Given the description of an element on the screen output the (x, y) to click on. 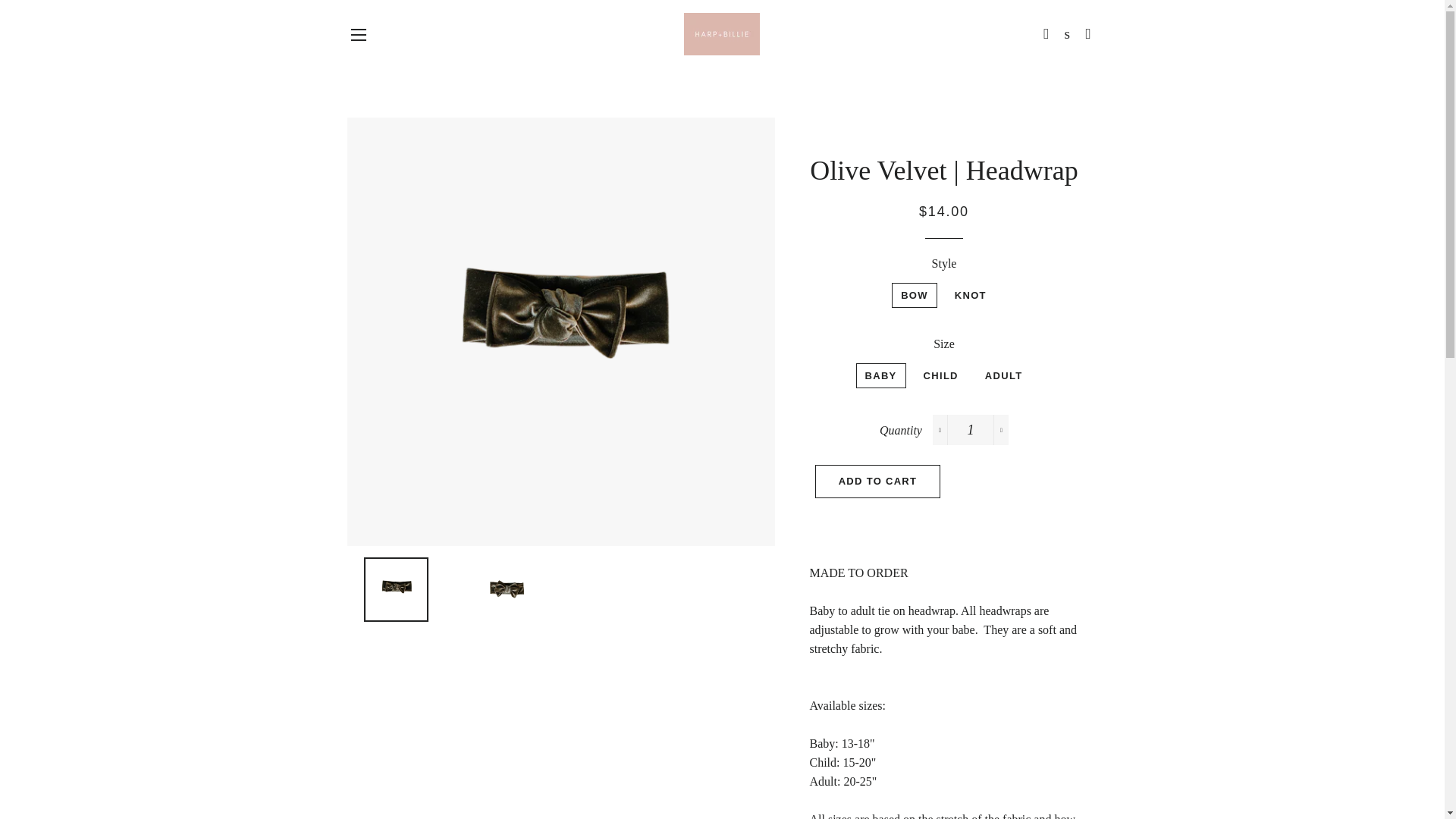
1 (971, 429)
SITE NAVIGATION (358, 34)
